Given the description of an element on the screen output the (x, y) to click on. 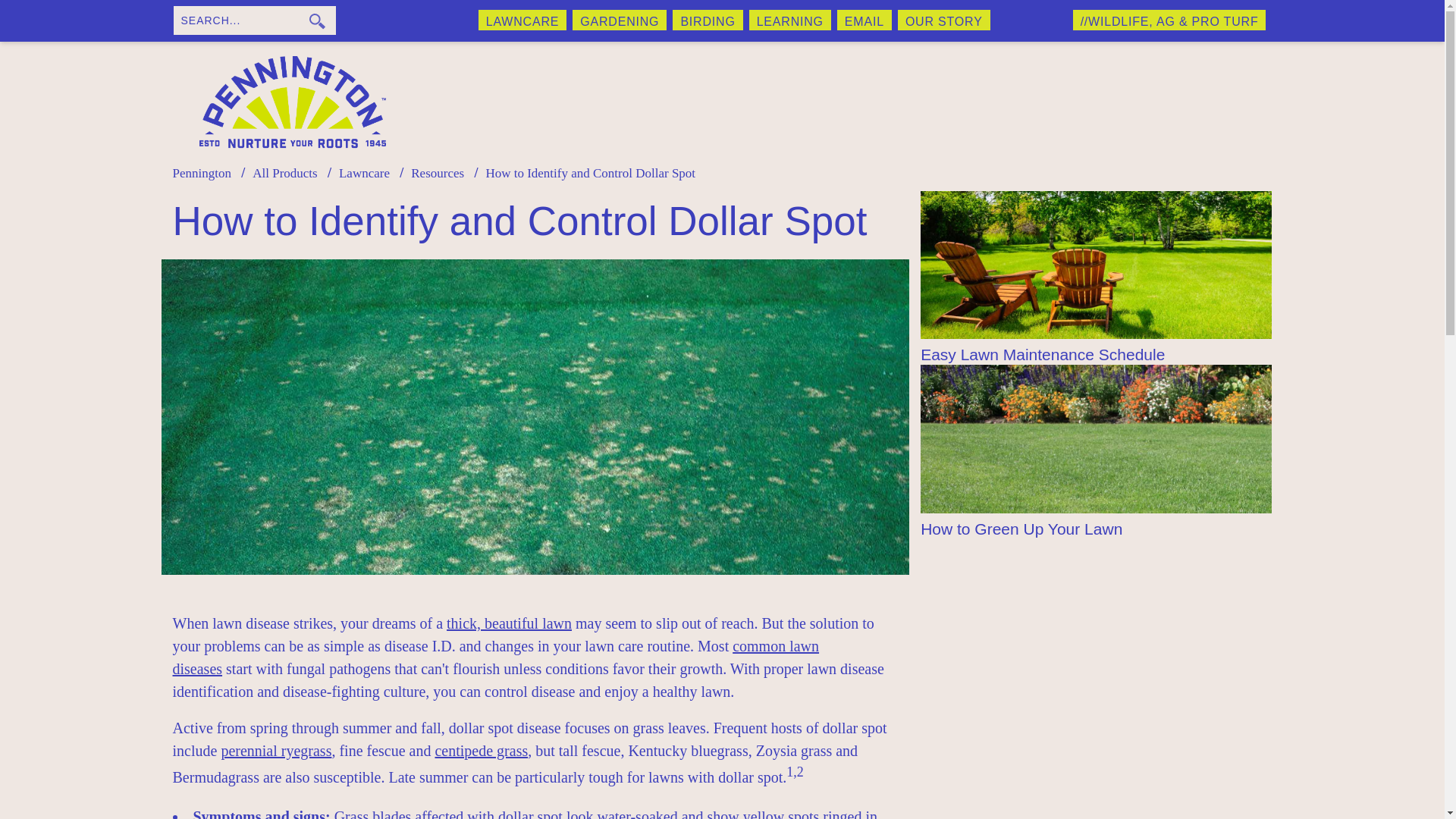
All Products (284, 173)
thick, beautiful lawn (509, 623)
Resources (437, 173)
resources (437, 173)
Home (202, 173)
EMAIL (864, 19)
all-products (284, 173)
grass-seed (364, 173)
Lawncare (364, 173)
LAWNCARE (523, 19)
common lawn diseases (496, 657)
How to Identify and Control Dollar Spot (589, 173)
Pennington (202, 173)
OUR STORY (944, 19)
LEARNING (790, 19)
